Given the description of an element on the screen output the (x, y) to click on. 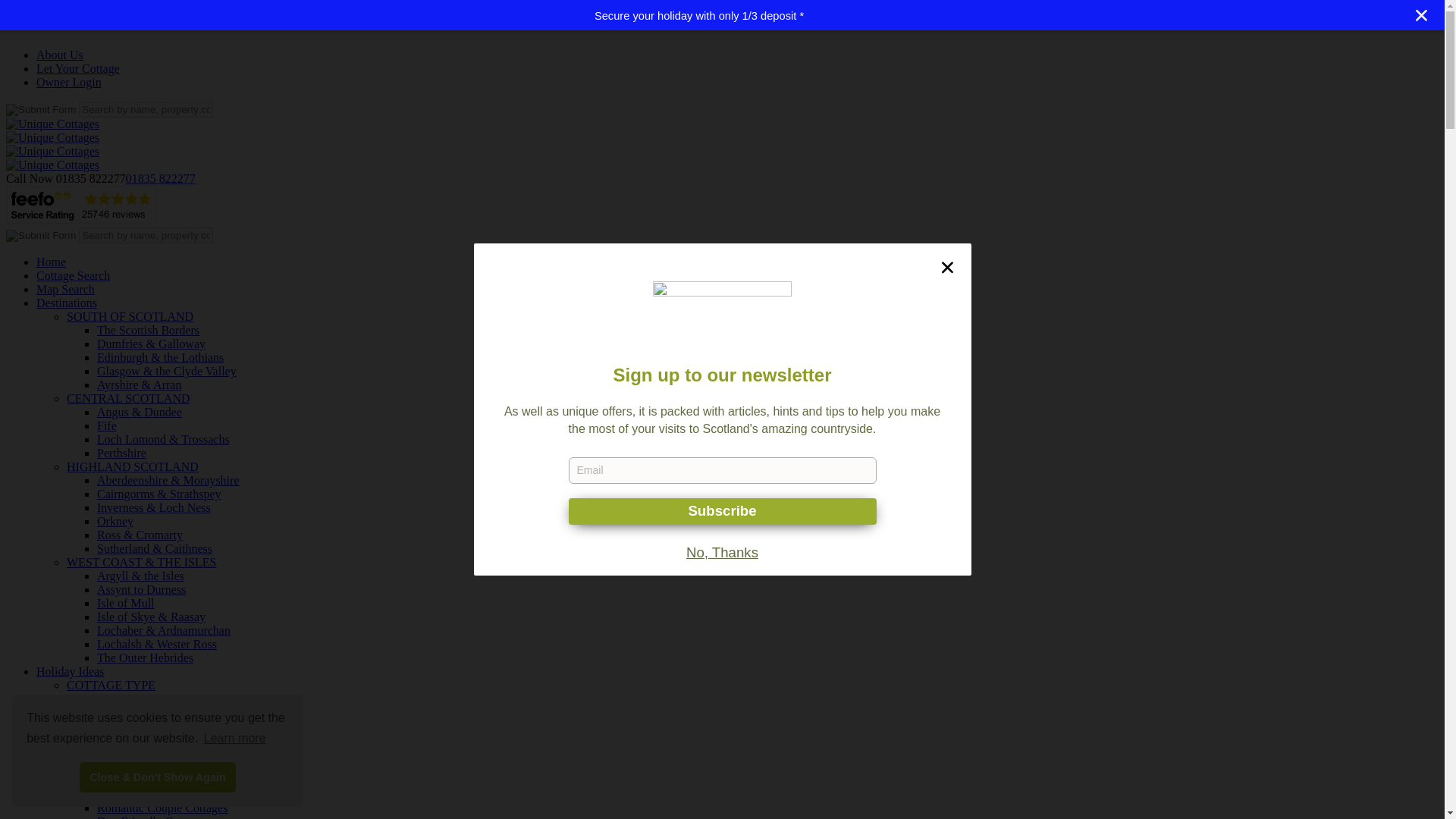
Owner Login (68, 82)
Home (50, 261)
CENTRAL SCOTLAND (128, 398)
Map Search (65, 288)
HIGHLAND SCOTLAND (132, 466)
Cottage Search (73, 275)
SOUTH OF SCOTLAND (129, 316)
Isle of Mull (125, 603)
Learn more (234, 738)
01835 822277 (160, 178)
About Us (59, 54)
Perthshire (122, 452)
Let Your Cottage (77, 68)
Assynt to Durness (141, 589)
The Scottish Borders (148, 329)
